Given the description of an element on the screen output the (x, y) to click on. 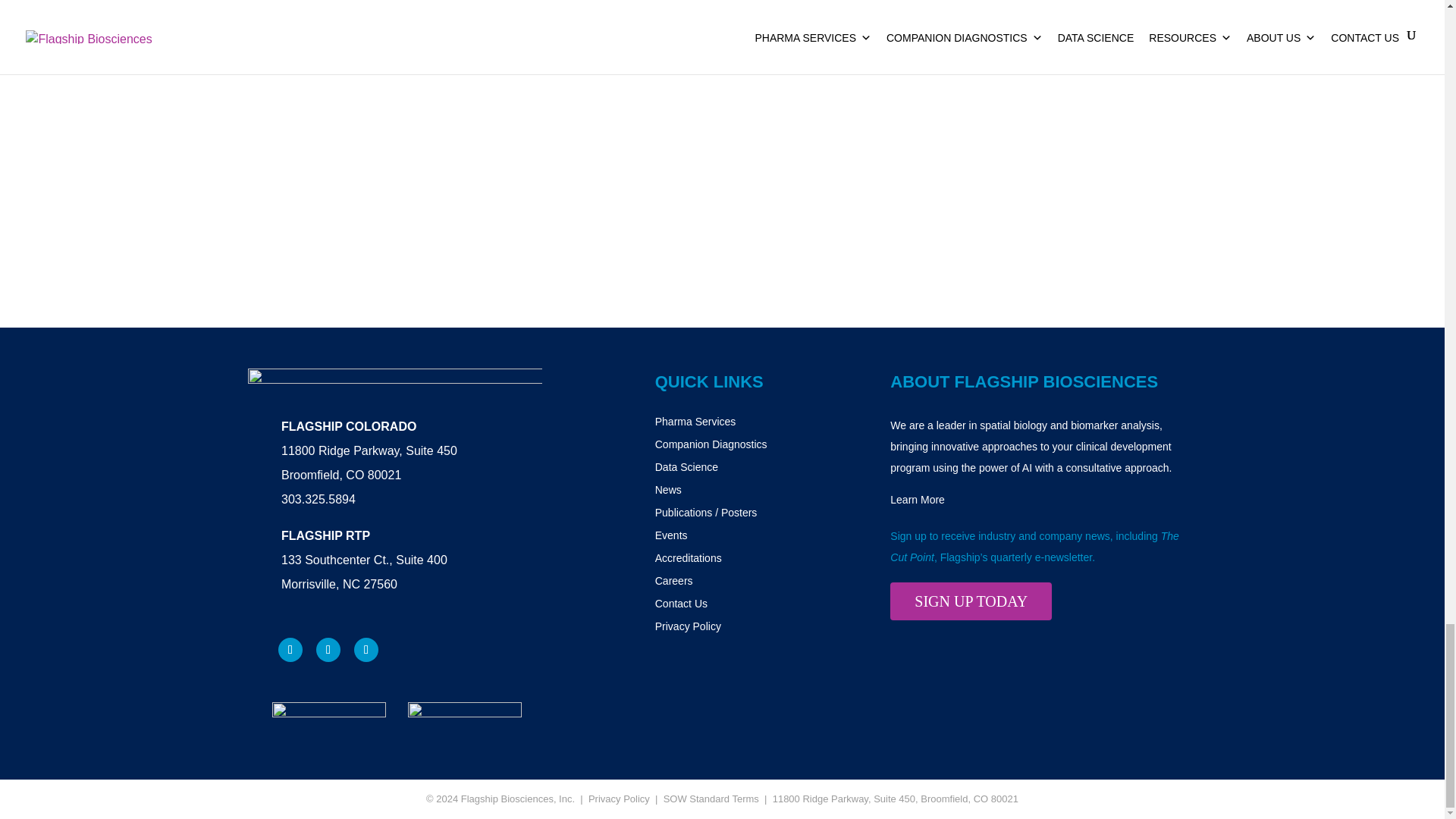
flagshipbio-horz-logo-rev-d-3-2X (394, 384)
Follow on X (365, 649)
Follow on Telegram (290, 649)
Follow on LinkedIn (327, 649)
